Given the description of an element on the screen output the (x, y) to click on. 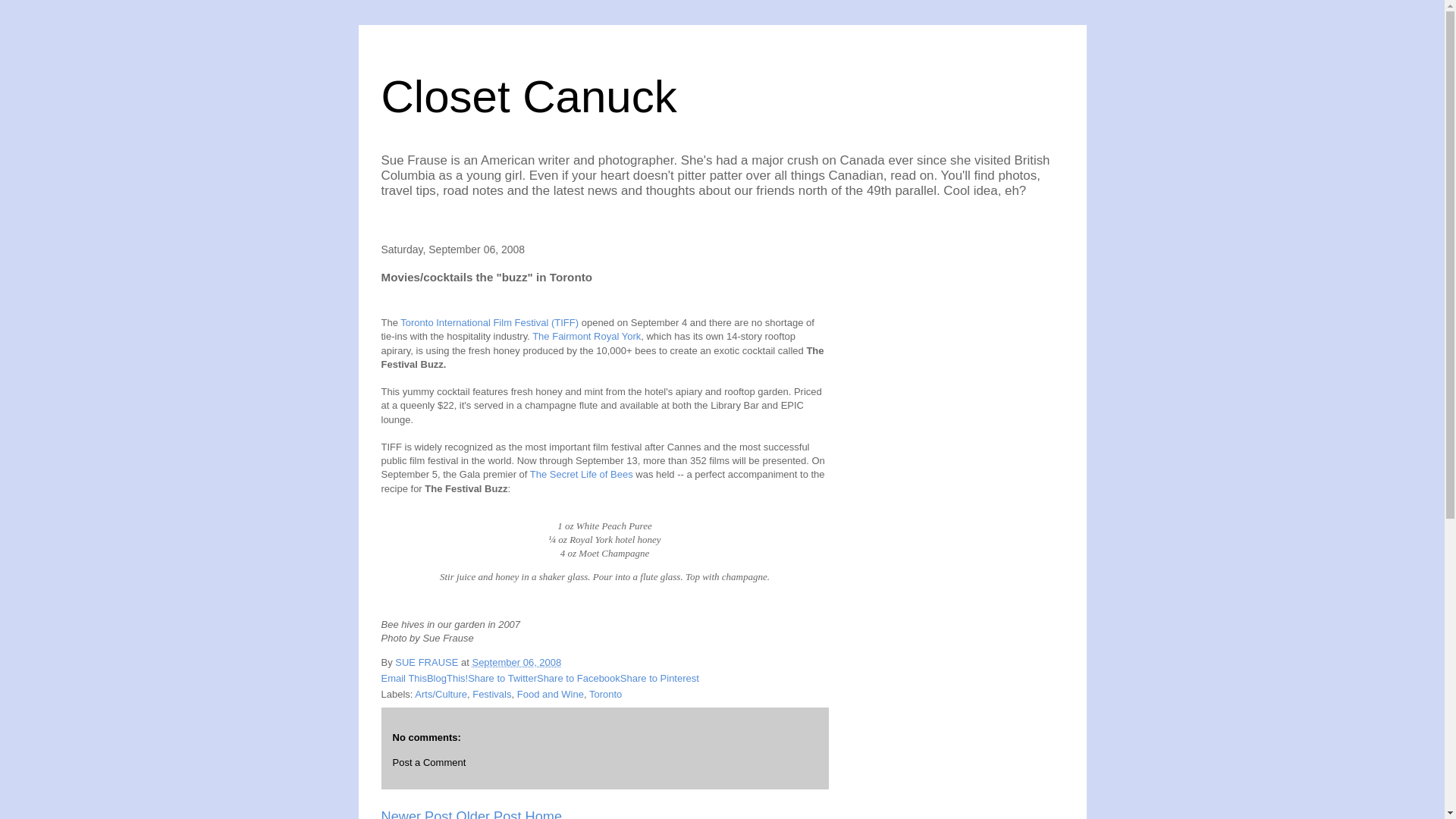
Email This (403, 677)
Share to Facebook (578, 677)
Older Post (489, 814)
Post a Comment (429, 762)
Email This (403, 677)
BlogThis! (446, 677)
SUE FRAUSE (427, 662)
The Fairmont Royal York (586, 336)
Food and Wine (549, 694)
Closet Canuck (528, 96)
Toronto (605, 694)
Share to Pinterest (659, 677)
Festivals (491, 694)
Share to Twitter (502, 677)
Share to Twitter (502, 677)
